Given the description of an element on the screen output the (x, y) to click on. 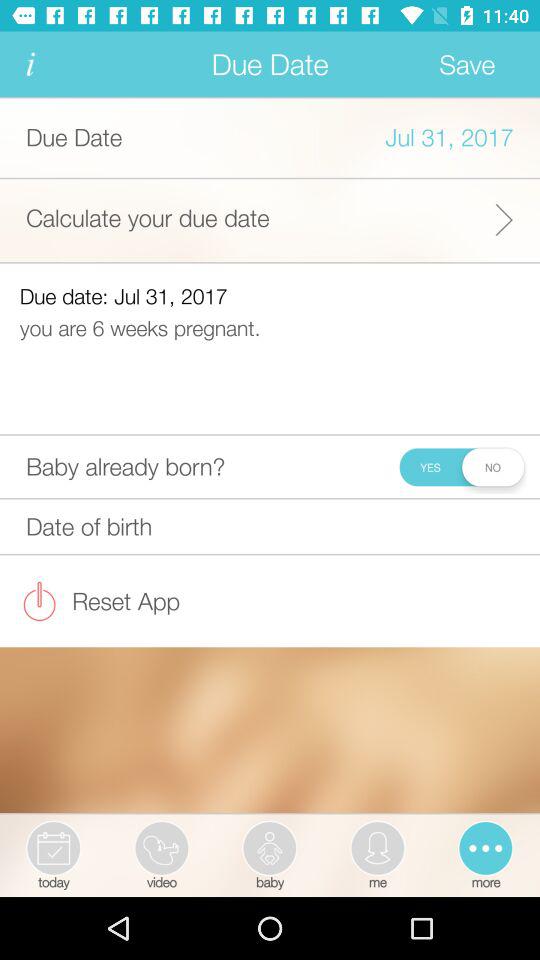
toggle yes or no (460, 466)
